Given the description of an element on the screen output the (x, y) to click on. 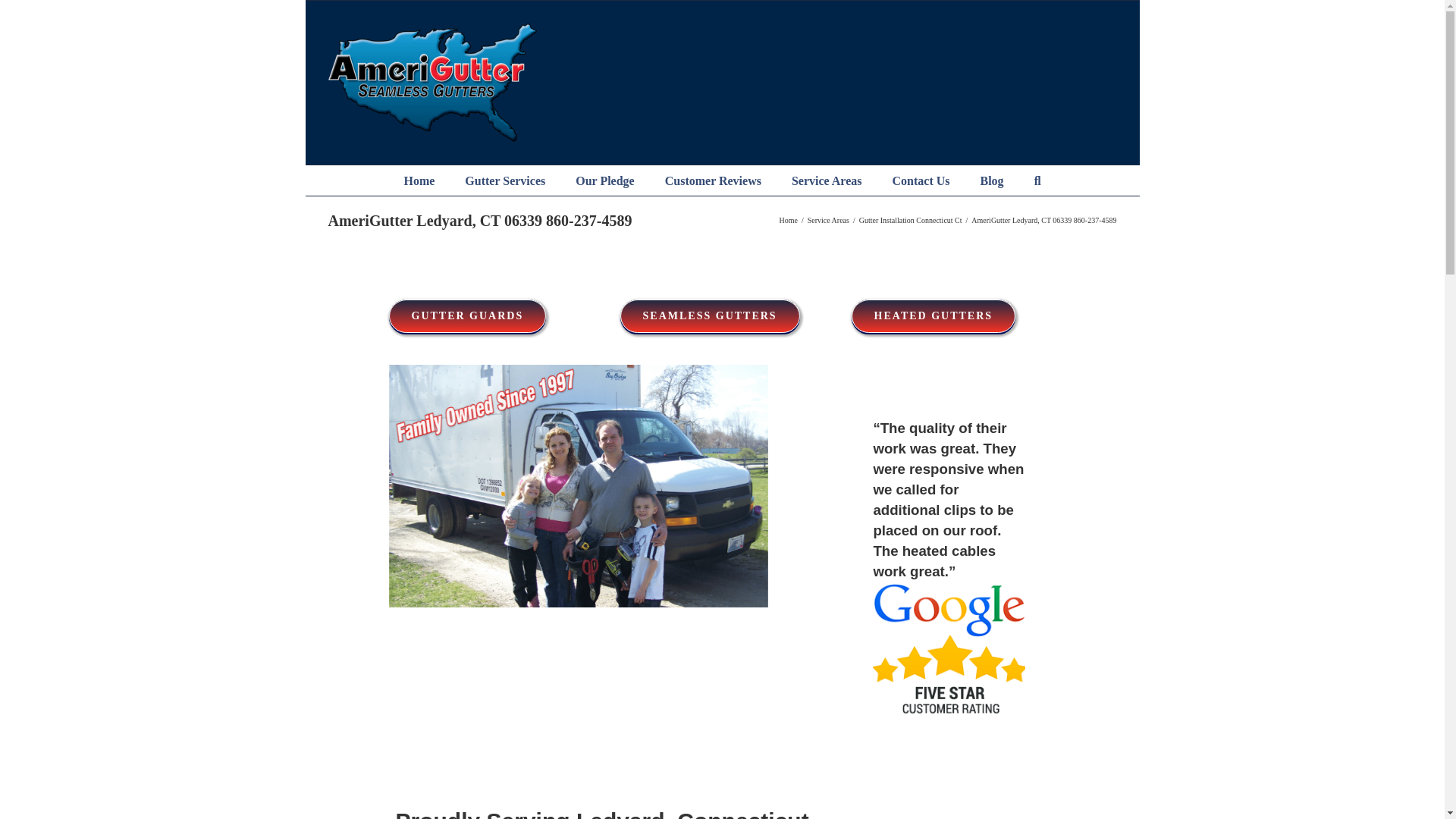
Customer Reviews (713, 180)
Service Areas (826, 180)
Contact Us (920, 180)
Our Pledge (604, 180)
Home (418, 180)
Gutter Services (504, 180)
